Given the description of an element on the screen output the (x, y) to click on. 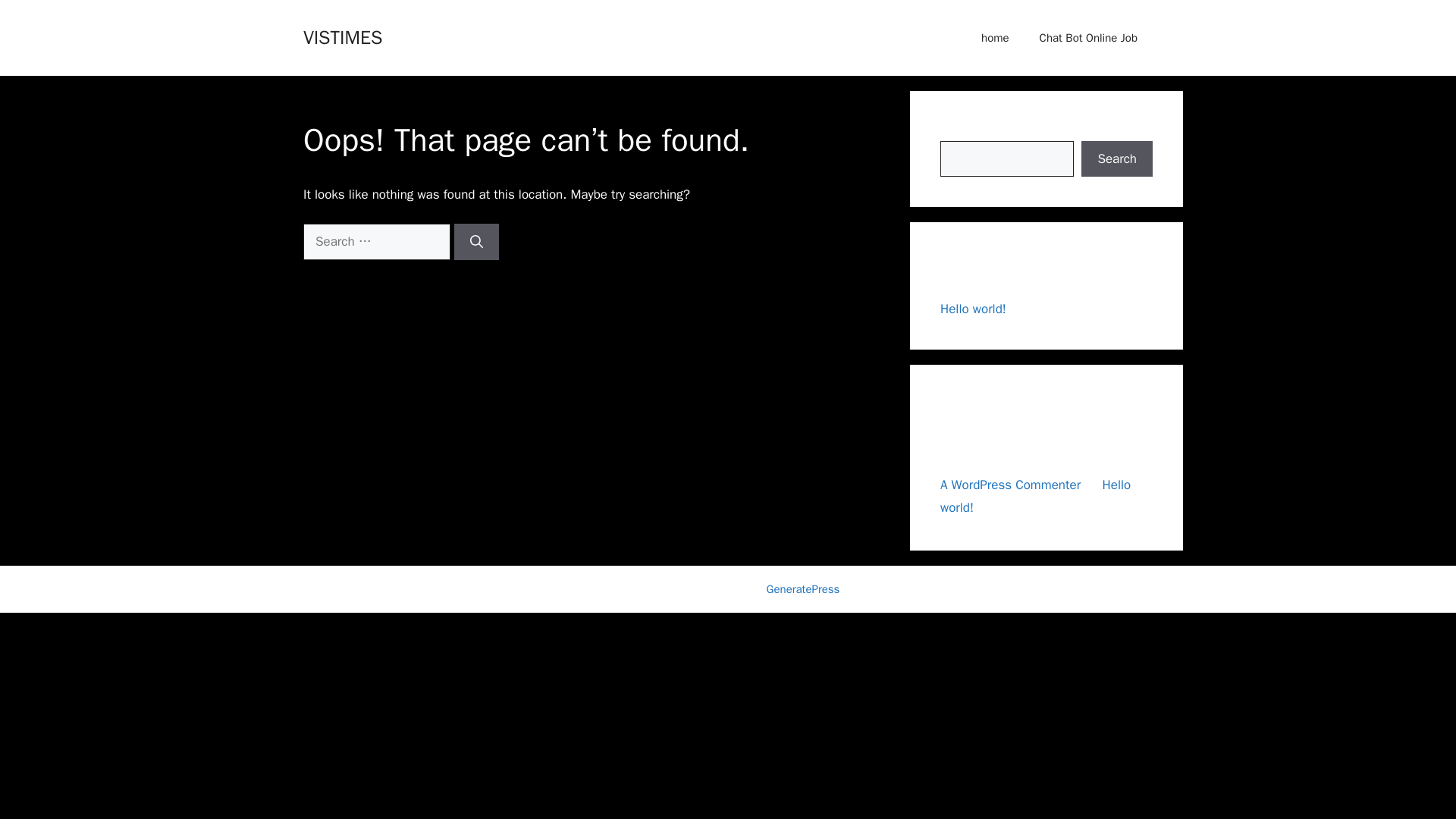
VlSTIMES (341, 37)
Hello world! (1035, 495)
Hello world! (973, 308)
Search (1117, 158)
Search for: (375, 241)
Chat Bot Online Job (1089, 37)
GeneratePress (803, 589)
home (995, 37)
A WordPress Commenter (1010, 483)
